Given the description of an element on the screen output the (x, y) to click on. 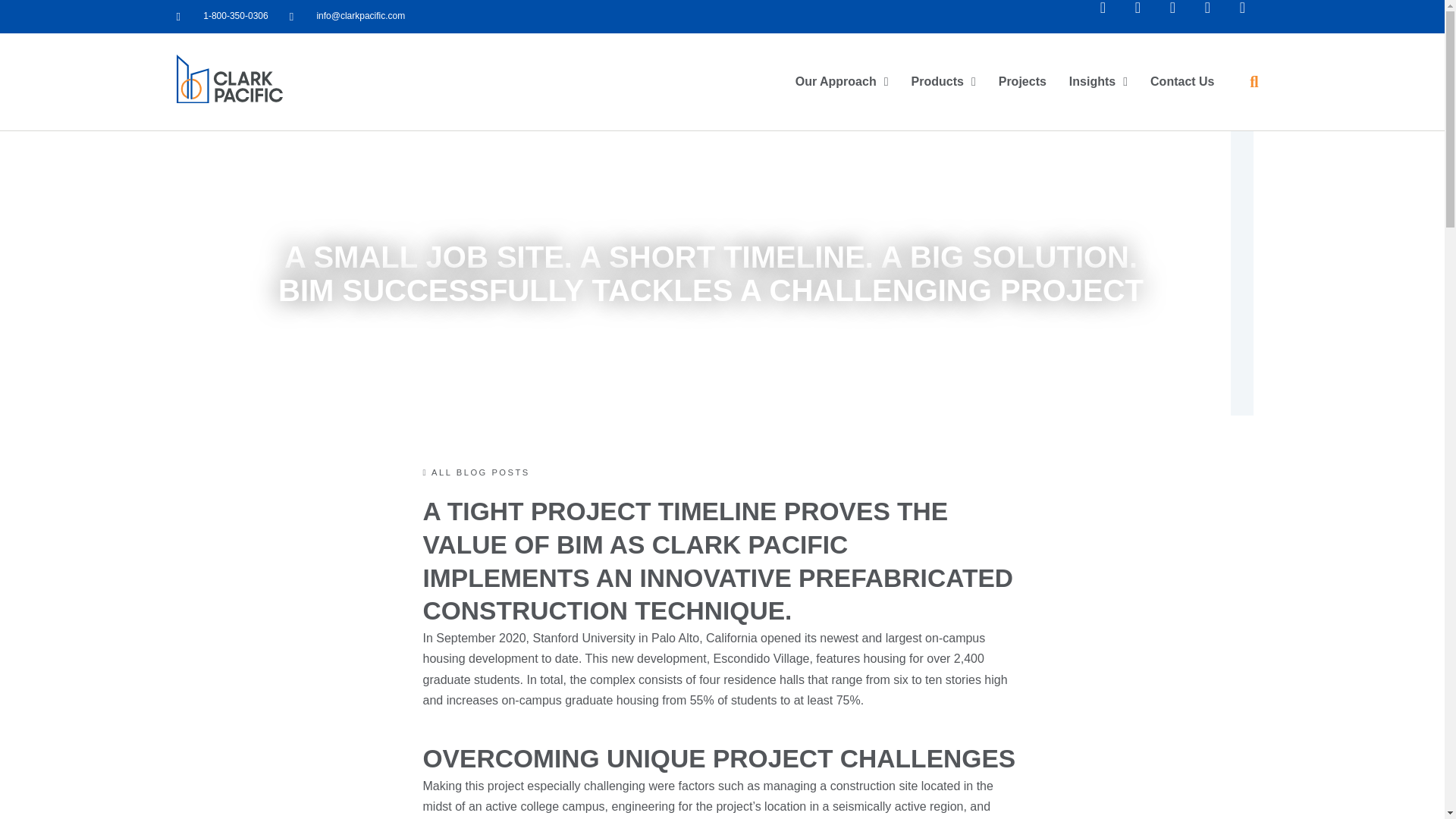
Projects (1022, 81)
Insights (1098, 81)
Contact Us (1182, 81)
Products (944, 81)
1-800-350-0306 (221, 15)
Our Approach (841, 81)
